Given the description of an element on the screen output the (x, y) to click on. 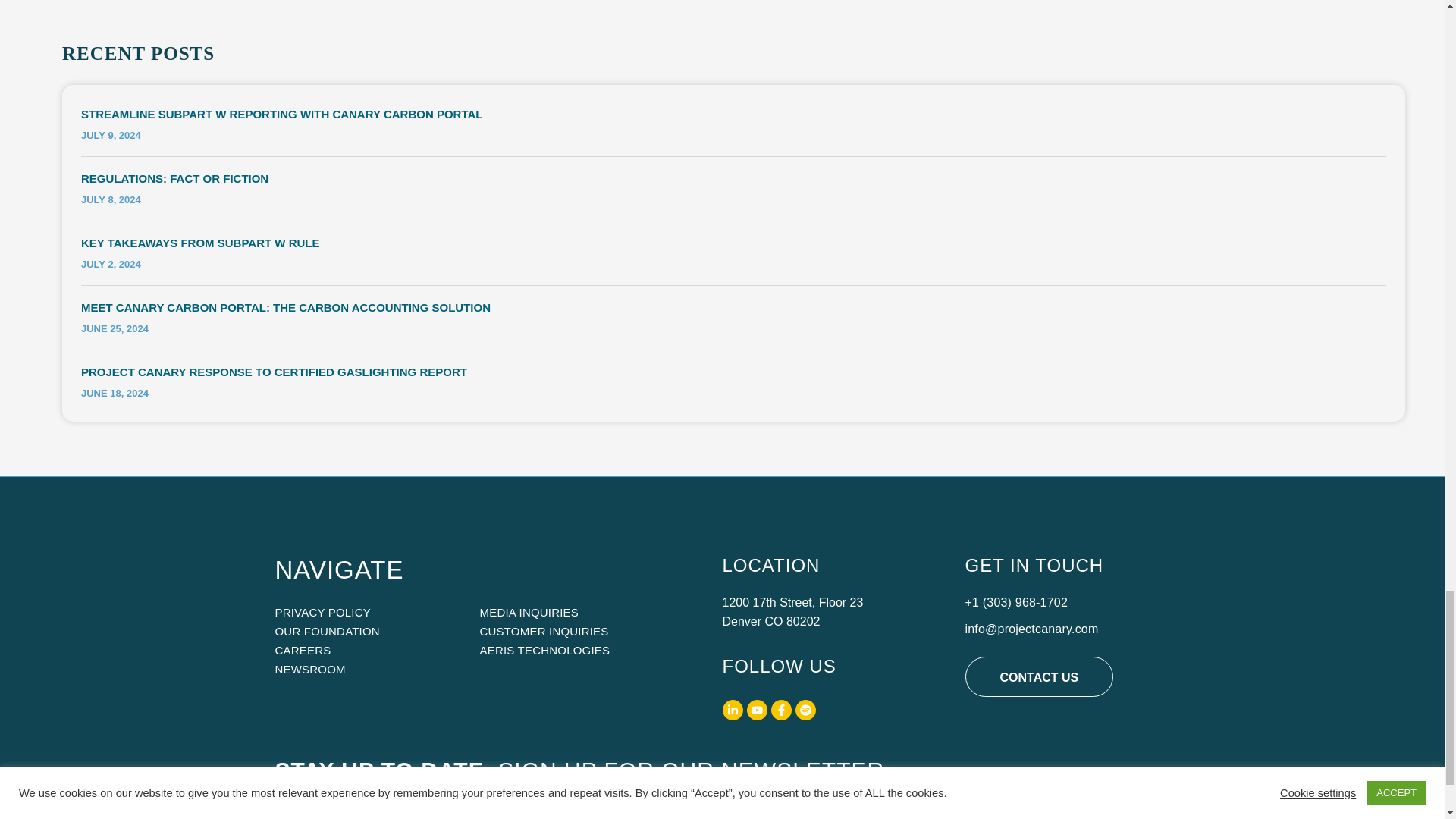
Submit (1093, 806)
